Given the description of an element on the screen output the (x, y) to click on. 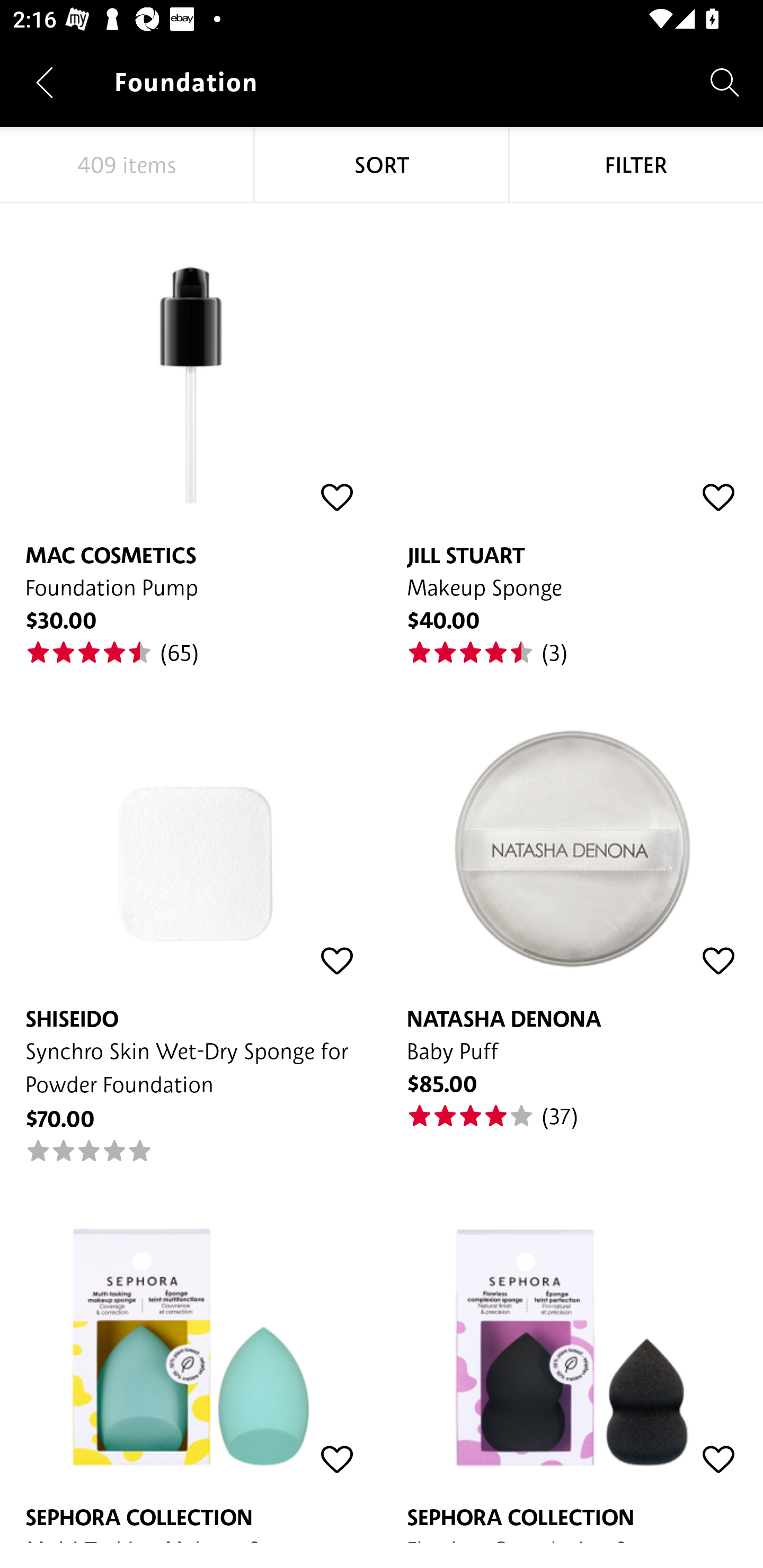
Navigate up (44, 82)
Search (724, 81)
SORT (381, 165)
FILTER (636, 165)
MAC COSMETICS Foundation Pump $30.00 (65) (190, 434)
JILL STUART Makeup Sponge $40.00 (3) (571, 434)
NATASHA DENONA Baby Puff $85.00 (37) (571, 898)
